Given the description of an element on the screen output the (x, y) to click on. 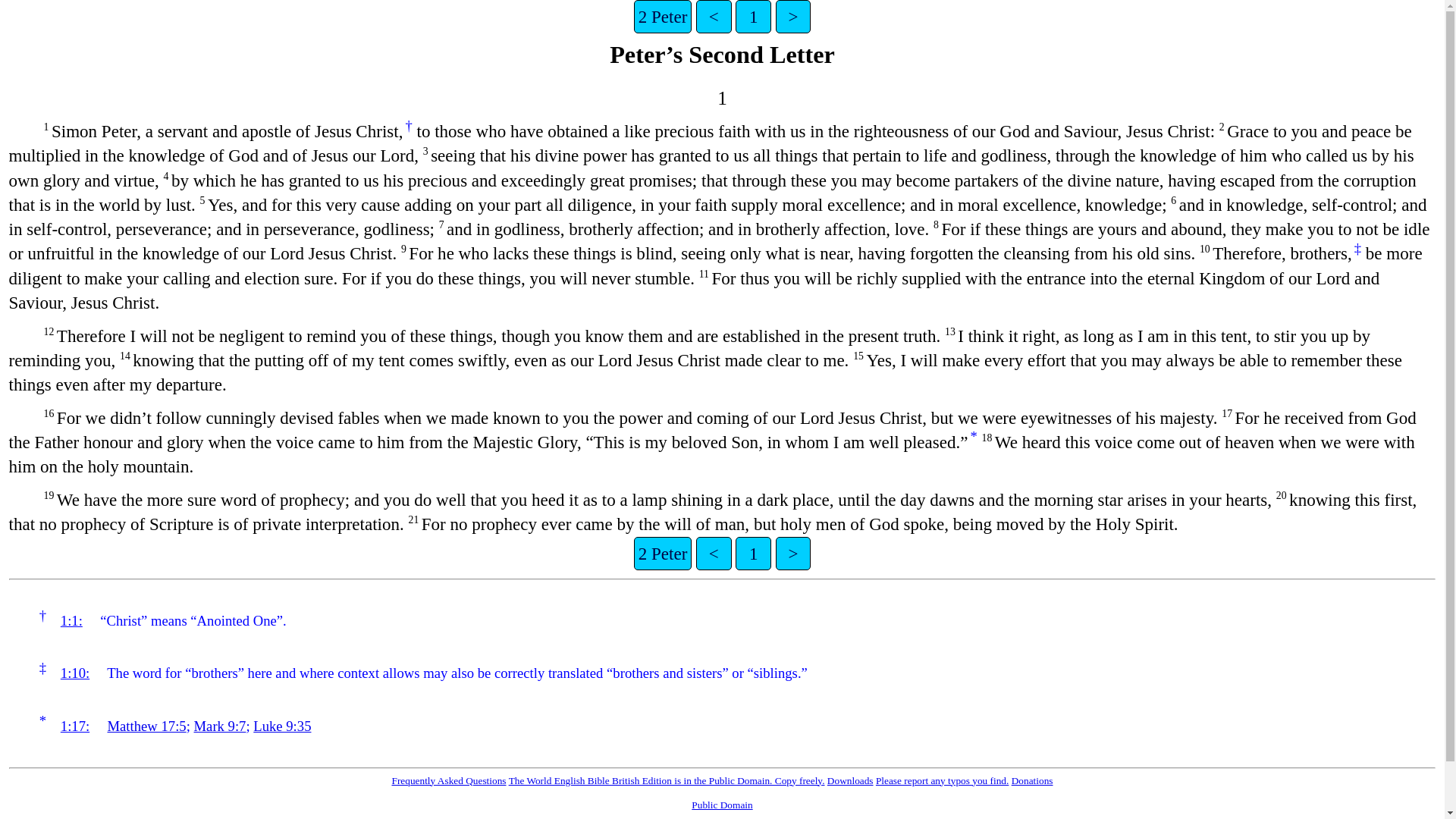
Public Domain (721, 804)
Donations (1031, 780)
Downloads (850, 780)
1:1: (71, 620)
1:10: (74, 672)
1 (753, 16)
2 Peter (663, 553)
Frequently Asked Questions (448, 780)
Matthew 17:5 (146, 725)
Mark 9:7 (219, 725)
1:17: (74, 725)
1 (753, 553)
2 Peter (663, 16)
Please report any typos you find. (942, 780)
